Given the description of an element on the screen output the (x, y) to click on. 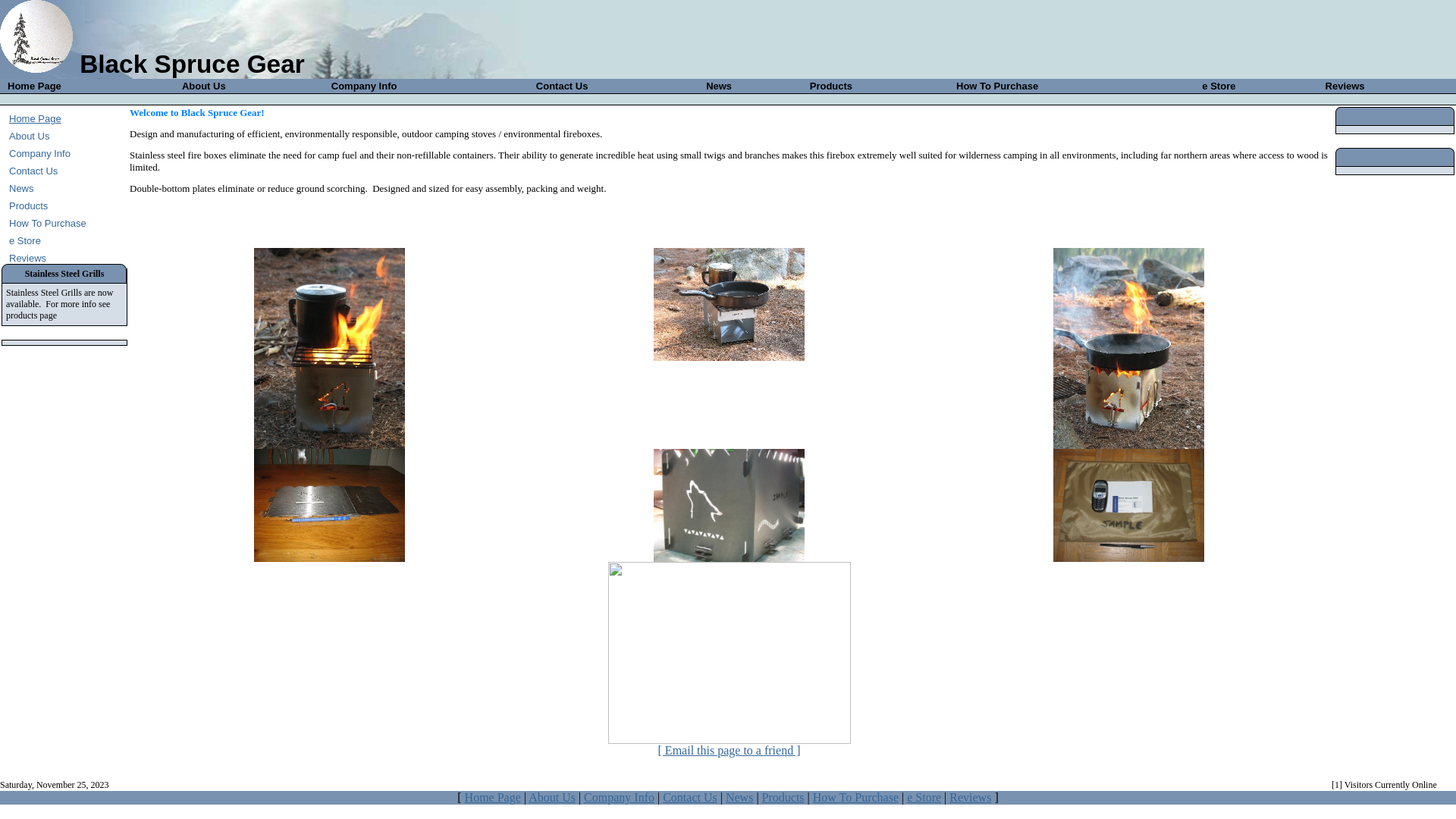
e Store Element type: text (923, 796)
Contact Us Element type: text (689, 796)
[ Email this page to a friend ] Element type: text (729, 749)
About Us Element type: text (29, 135)
e Store Element type: text (1218, 85)
Contact Us Element type: text (33, 170)
Company Info Element type: text (618, 796)
Company Info Element type: text (39, 153)
News Element type: text (718, 85)
Reviews Element type: text (27, 257)
Company Info Element type: text (364, 85)
Products Element type: text (830, 85)
News Element type: text (739, 796)
Home Page Element type: text (35, 118)
Home Page Element type: text (34, 85)
News Element type: text (21, 188)
e Store Element type: text (24, 240)
About Us Element type: text (203, 85)
How To Purchase Element type: text (855, 796)
About Us Element type: text (551, 796)
Products Element type: text (783, 796)
How To Purchase Element type: text (997, 85)
Reviews Element type: text (1345, 85)
How To Purchase Element type: text (47, 223)
Products Element type: text (28, 205)
Contact Us Element type: text (562, 85)
Home Page Element type: text (492, 796)
Reviews Element type: text (970, 796)
